Given the description of an element on the screen output the (x, y) to click on. 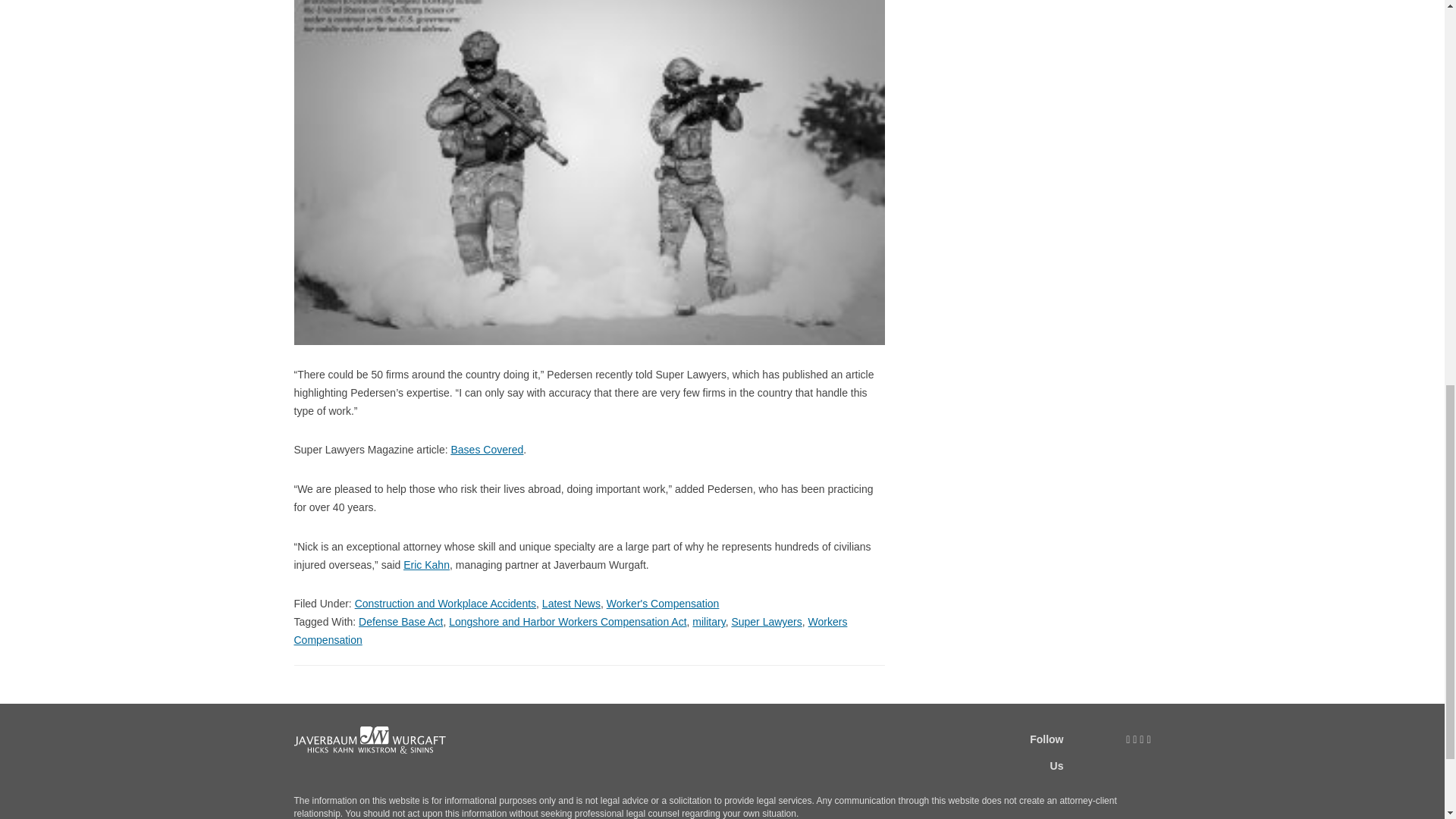
Worker's Compensation (663, 603)
Bases Covered (485, 449)
Construction and Workplace Accidents (445, 603)
Workers Compensation (570, 630)
Super Lawyers (766, 621)
Latest News (570, 603)
Defense Base Act (400, 621)
Eric Kahn (426, 564)
Longshore and Harbor Workers Compensation Act (566, 621)
